Given the description of an element on the screen output the (x, y) to click on. 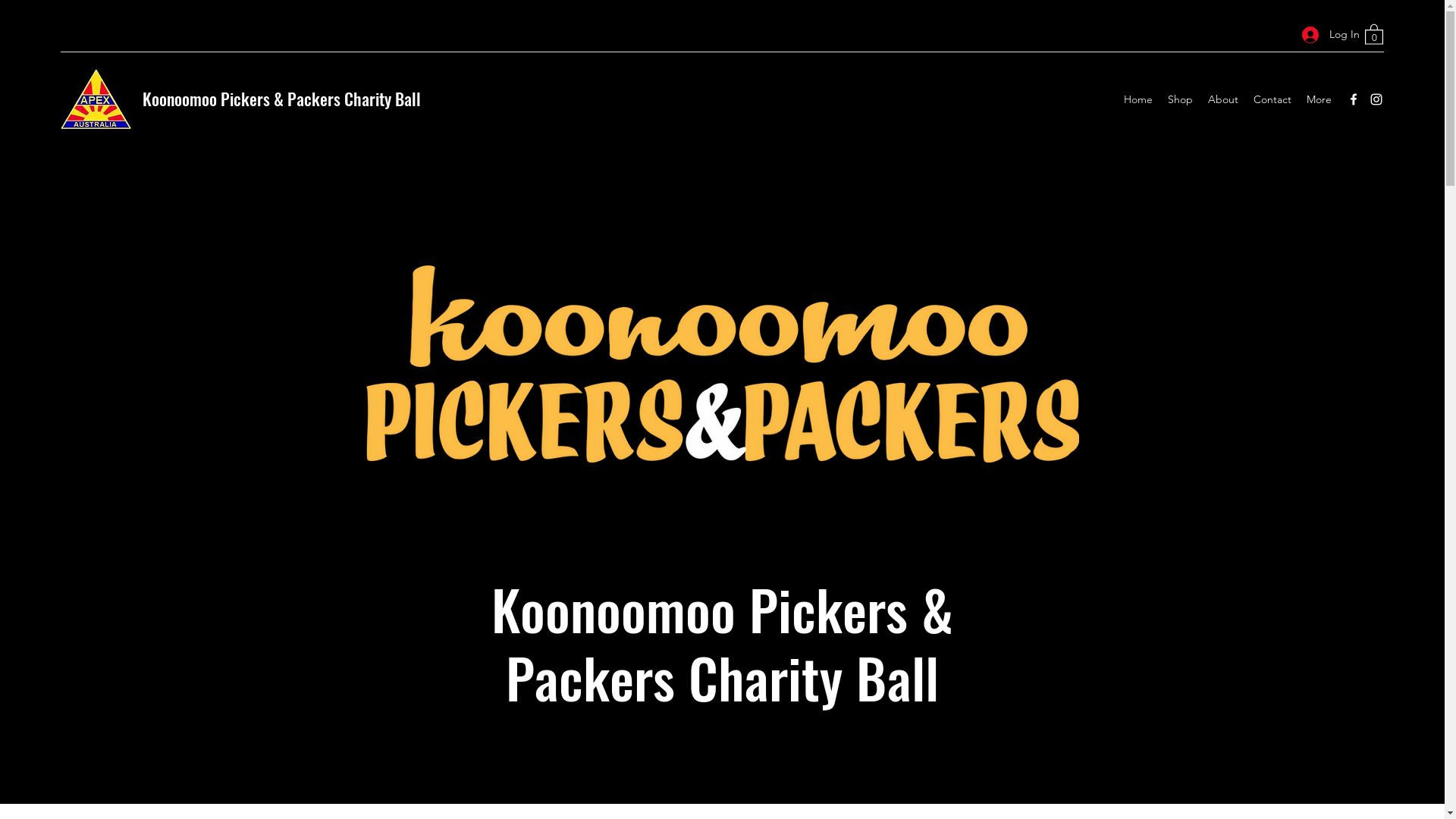
Koonoomoo Pickers & Packers Charity Ball Element type: text (281, 98)
About Element type: text (1222, 98)
Log In Element type: text (1325, 34)
Shop Element type: text (1180, 98)
Home Element type: text (1138, 98)
Contact Element type: text (1272, 98)
0 Element type: text (1374, 33)
